Given the description of an element on the screen output the (x, y) to click on. 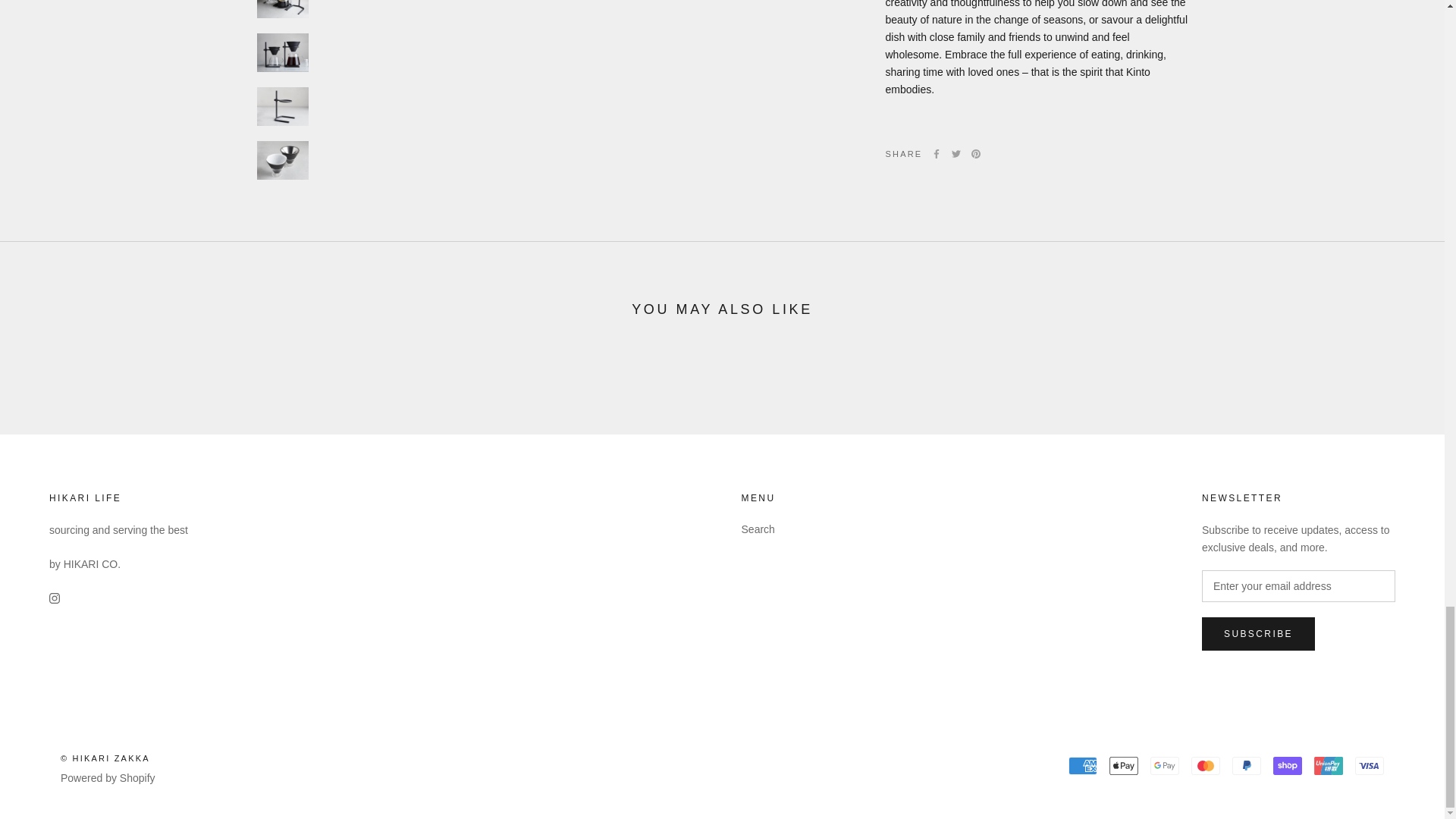
Mastercard (1205, 765)
Union Pay (1328, 765)
Shop Pay (1286, 765)
Apple Pay (1123, 765)
PayPal (1245, 765)
Visa (1369, 765)
Google Pay (1164, 765)
American Express (1082, 765)
